Given the description of an element on the screen output the (x, y) to click on. 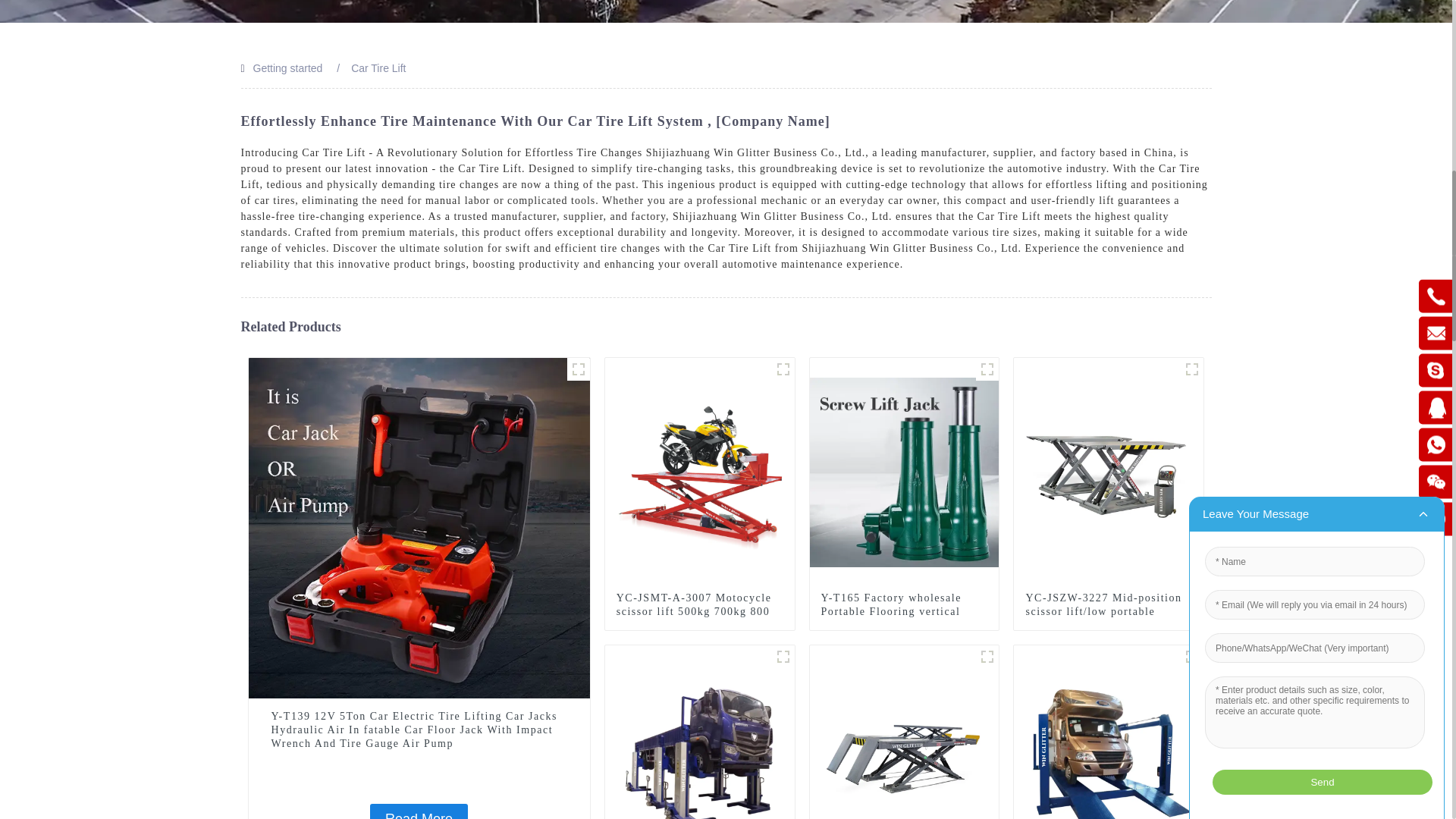
Car Tire Lift (378, 68)
YC-JSZM-C-8140 Ultra-thin large scissor lift 4ton  (903, 758)
heavy duty six post truck Auto car lift (782, 656)
Read More (418, 811)
Getting started (288, 68)
